Given the description of an element on the screen output the (x, y) to click on. 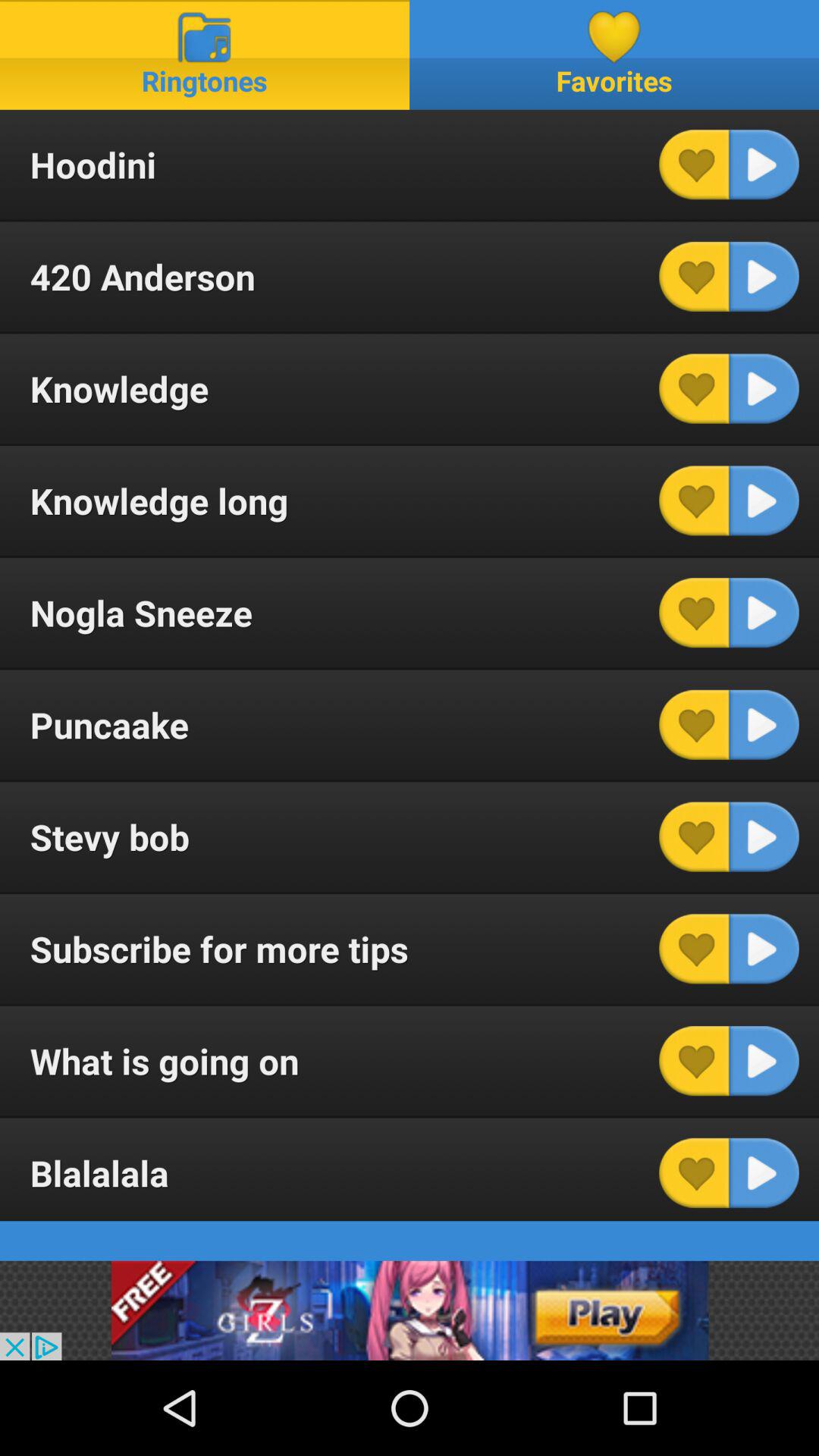
mark favorite (694, 836)
